Given the description of an element on the screen output the (x, y) to click on. 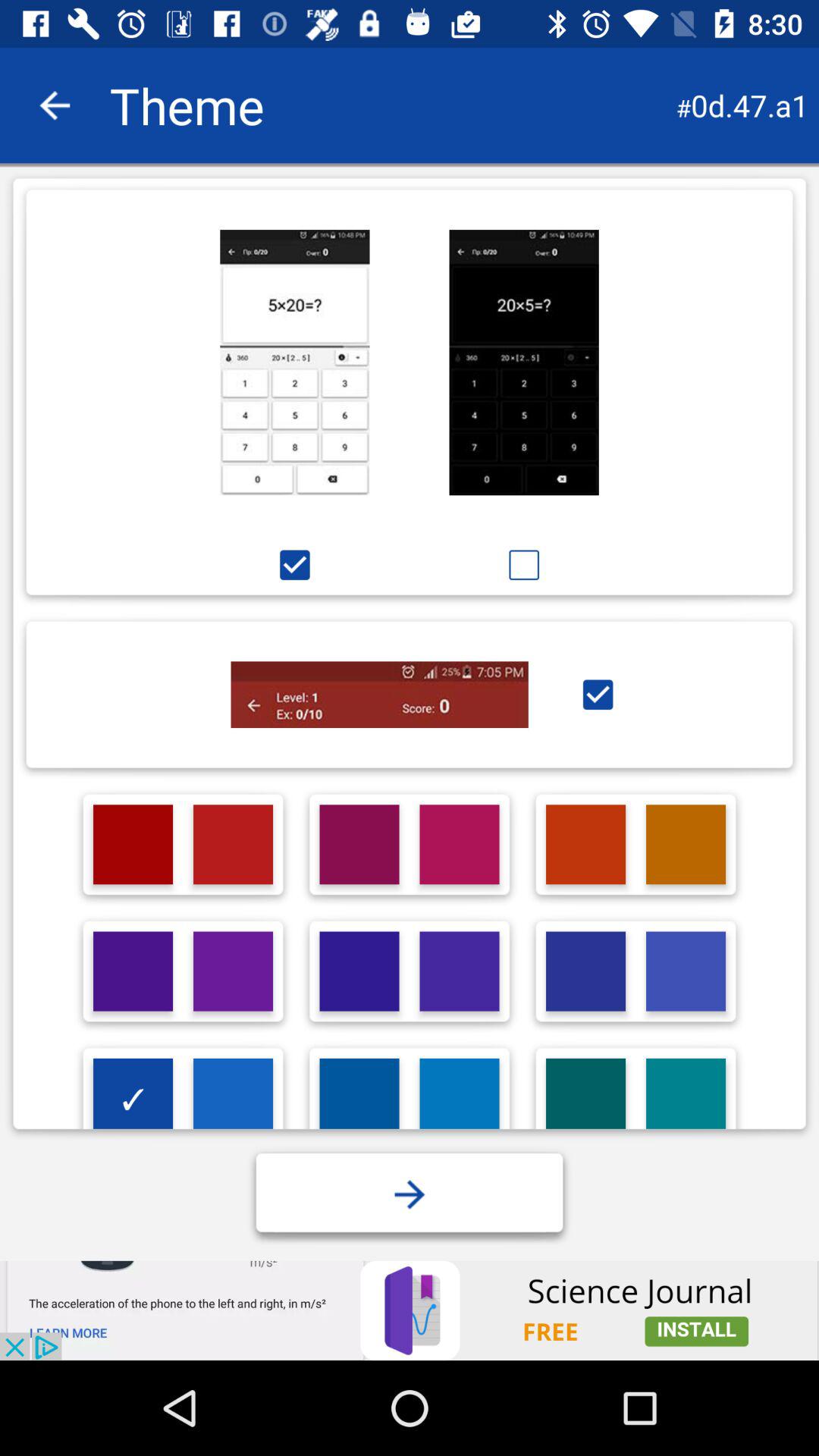
going to next option (409, 1194)
